Given the description of an element on the screen output the (x, y) to click on. 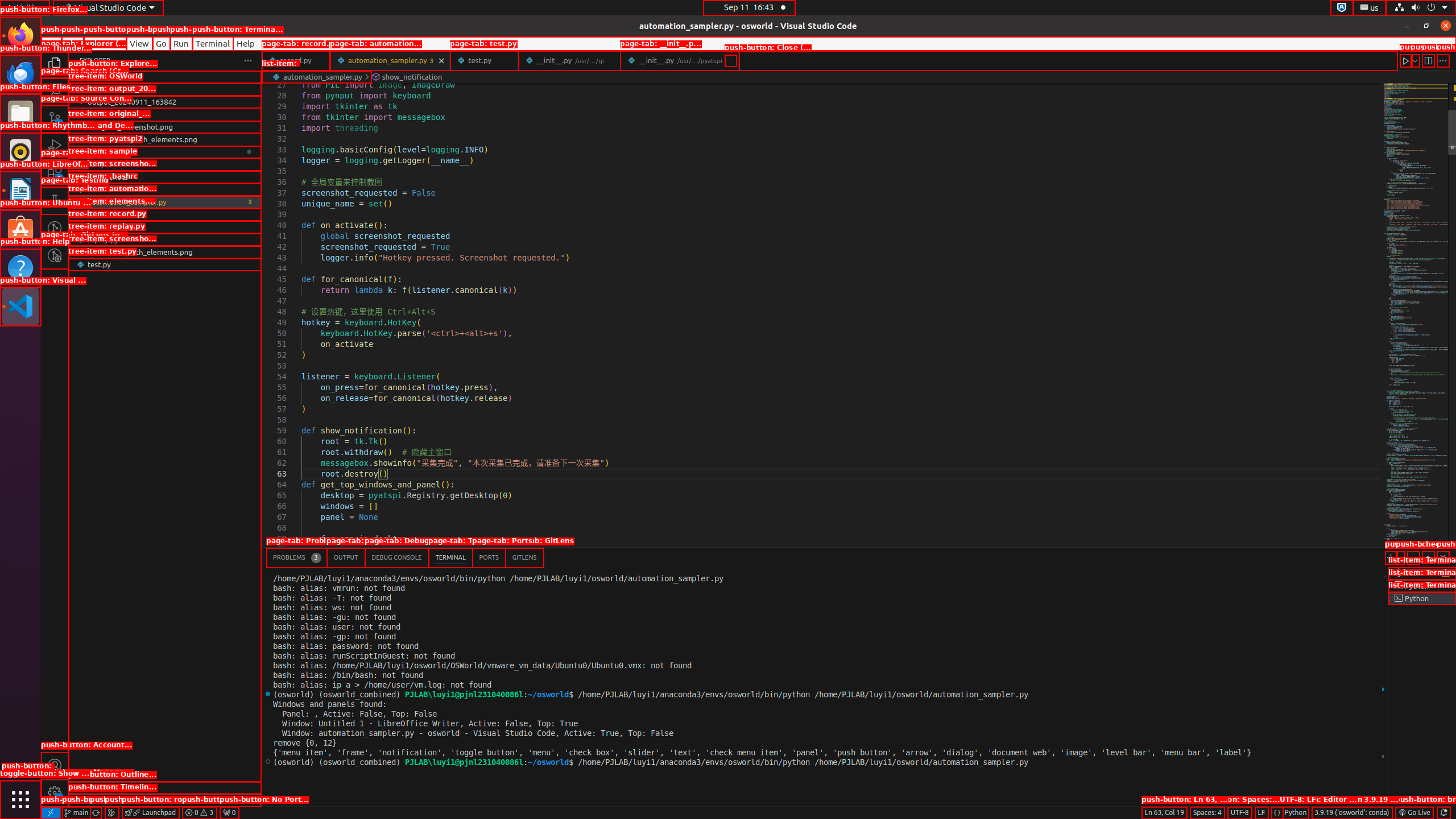
Terminal 1 bash Element type: list-item (1422, 573)
Launch Profile... Element type: push-button (1399, 557)
Show the GitLens Commit Graph Element type: push-button (111, 812)
elements.json Element type: tree-item (164, 214)
Timeline Section Element type: push-button (164, 799)
